Given the description of an element on the screen output the (x, y) to click on. 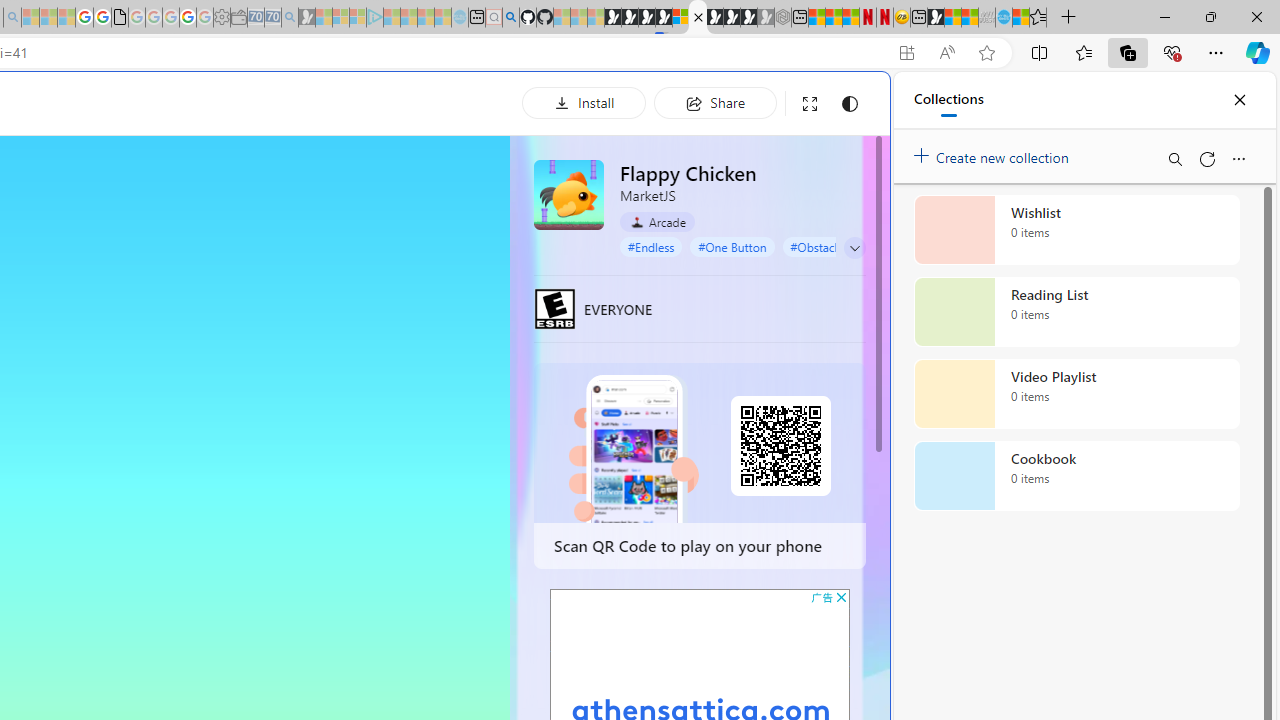
Flappy Chicken (568, 194)
Reading List collection, 0 items (1076, 312)
Tabs you've opened (276, 265)
Arcade (657, 222)
Cookbook collection, 0 items (1076, 475)
github - Search (510, 17)
